Given the description of an element on the screen output the (x, y) to click on. 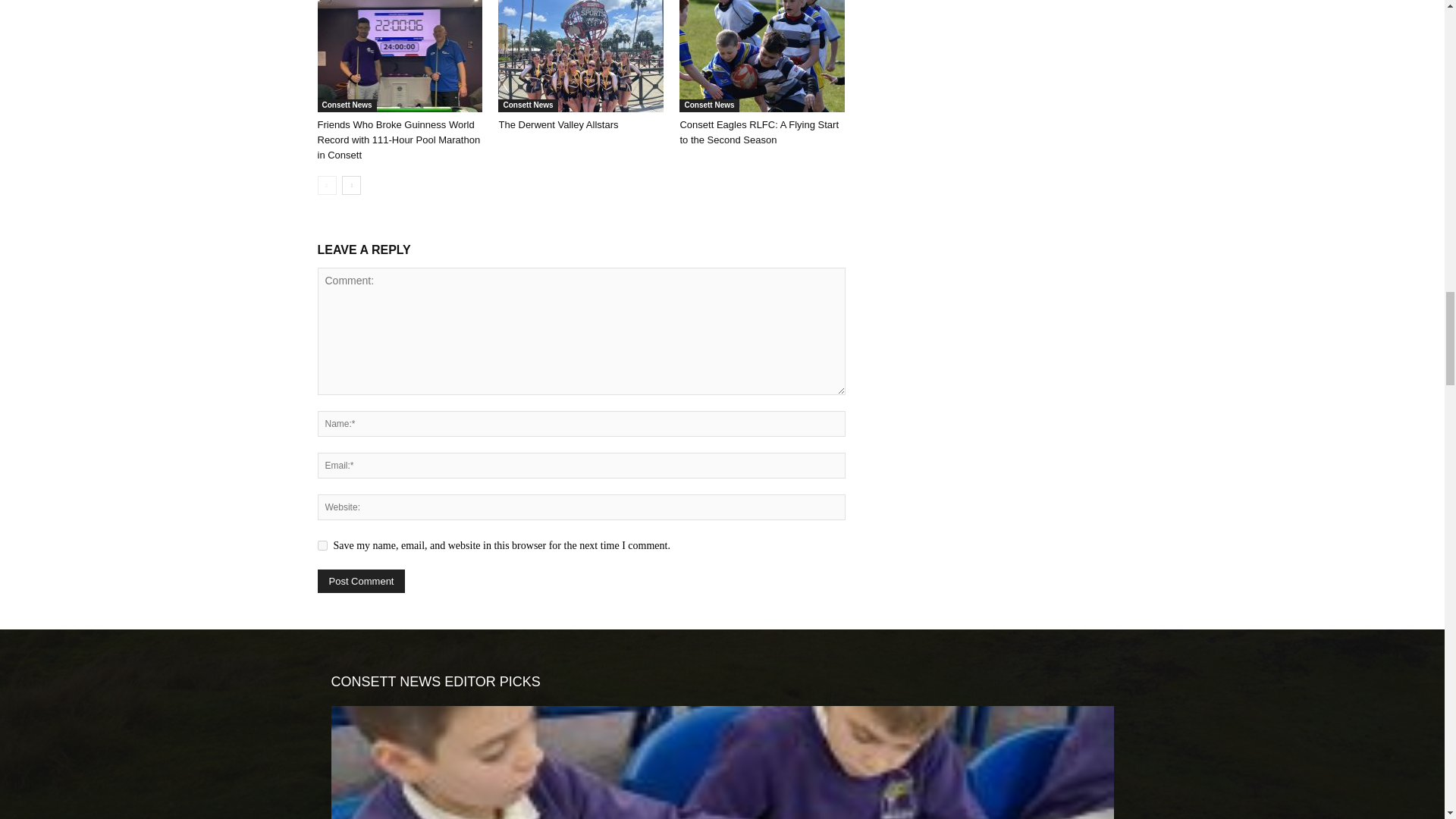
yes (321, 545)
Post Comment (360, 580)
